Given the description of an element on the screen output the (x, y) to click on. 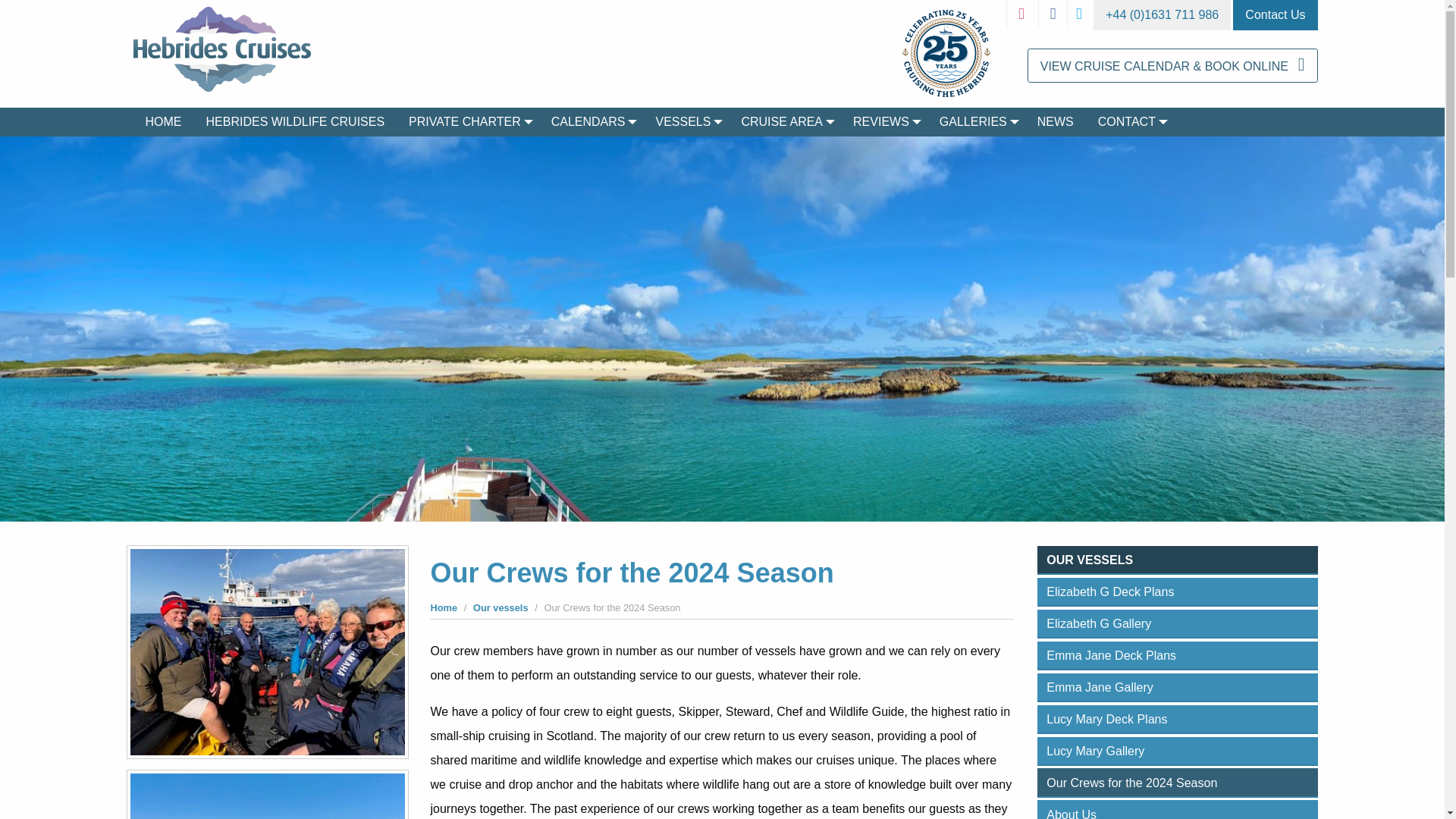
CRUISE AREA (785, 121)
HEBRIDES WILDLIFE CRUISES (295, 121)
PRIVATE CHARTER (467, 121)
CALENDARS (590, 121)
Contact Us (1275, 15)
HOME (163, 121)
VESSELS (686, 121)
